Given the description of an element on the screen output the (x, y) to click on. 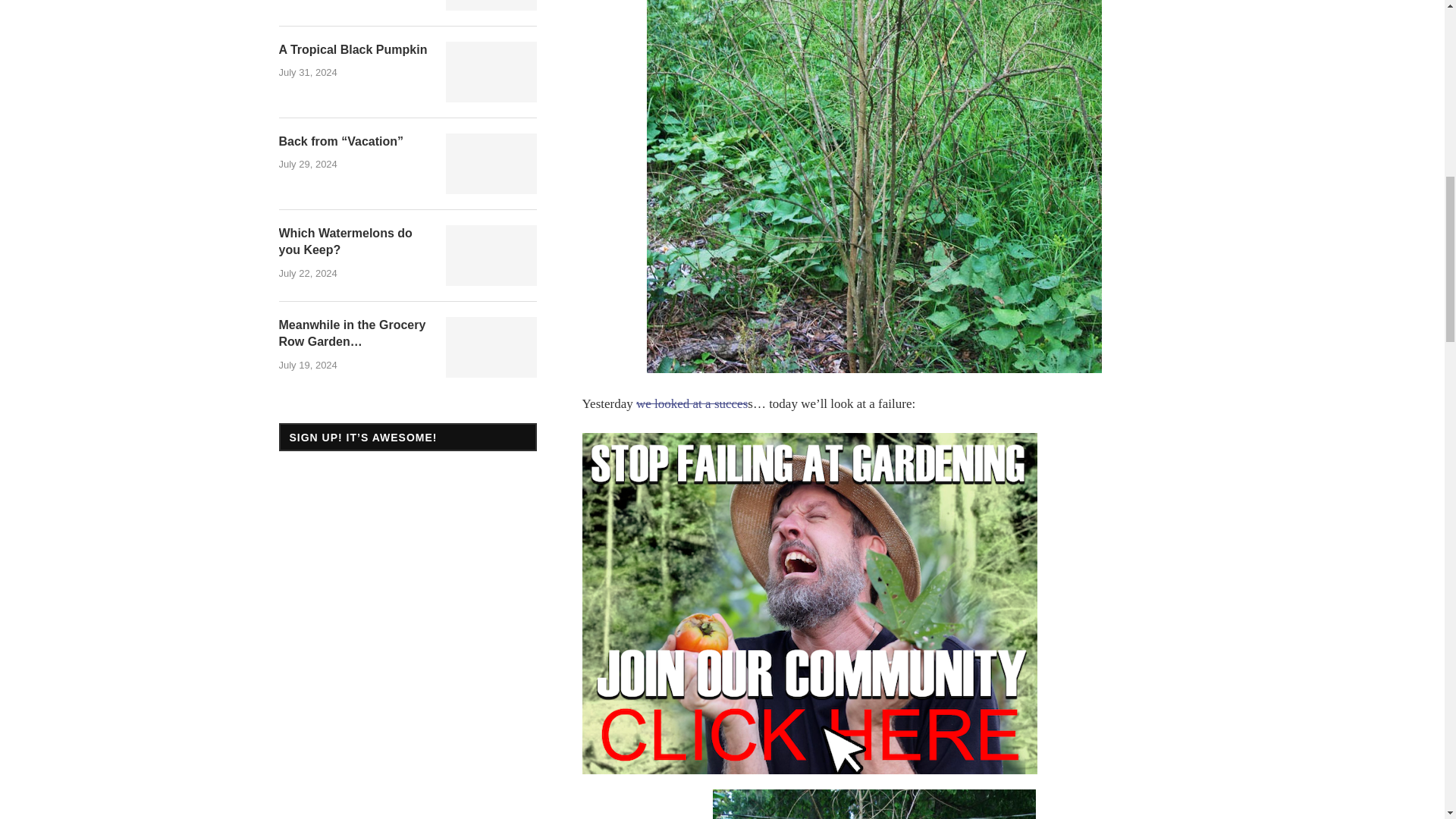
we looked at a succes (692, 403)
